Given the description of an element on the screen output the (x, y) to click on. 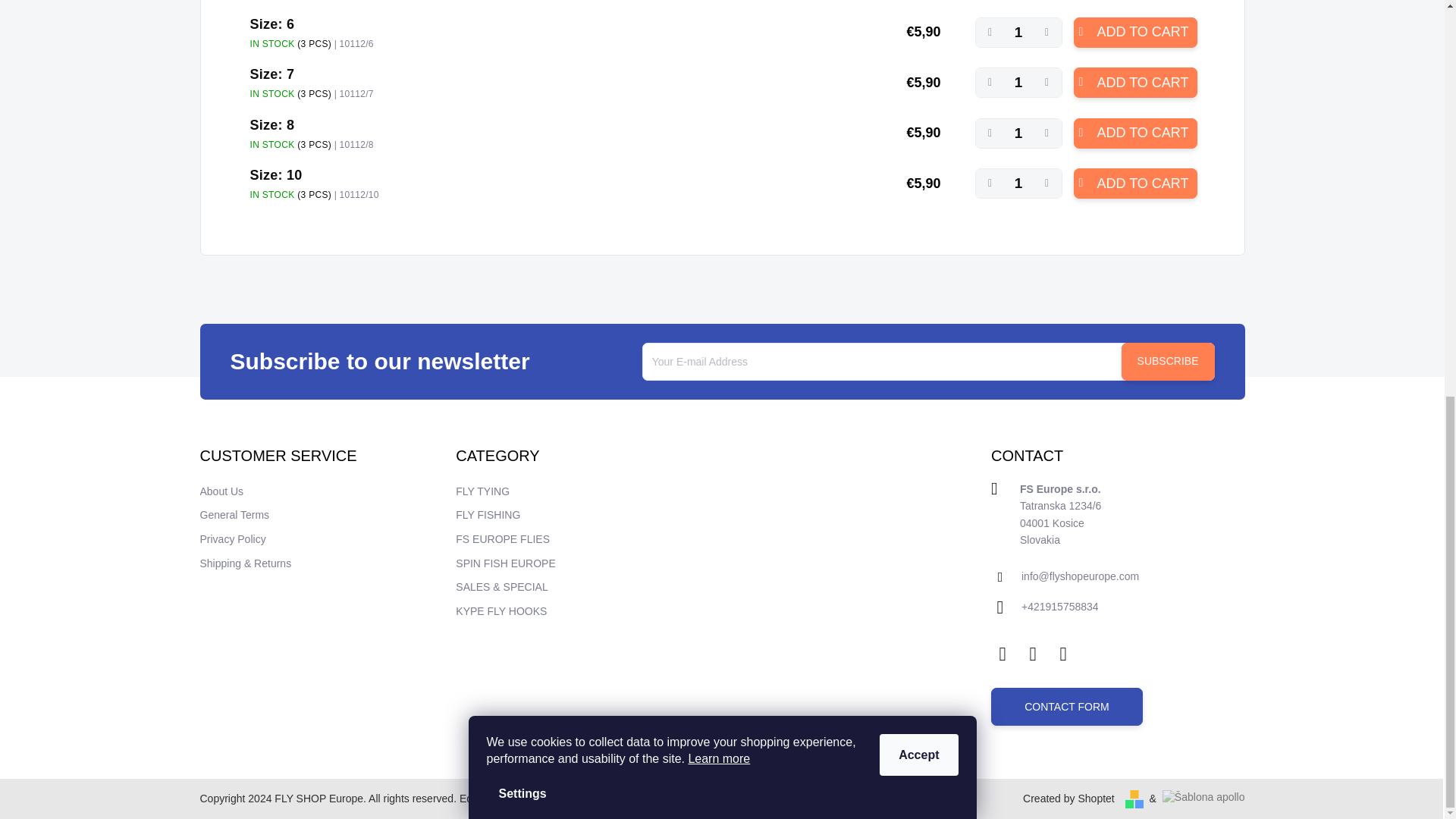
1 (1018, 183)
Phone (1060, 607)
Instagram (1032, 650)
1 (1018, 82)
1 (1018, 32)
YouTube (1062, 650)
1 (1018, 132)
Facebook (1002, 650)
